Given the description of an element on the screen output the (x, y) to click on. 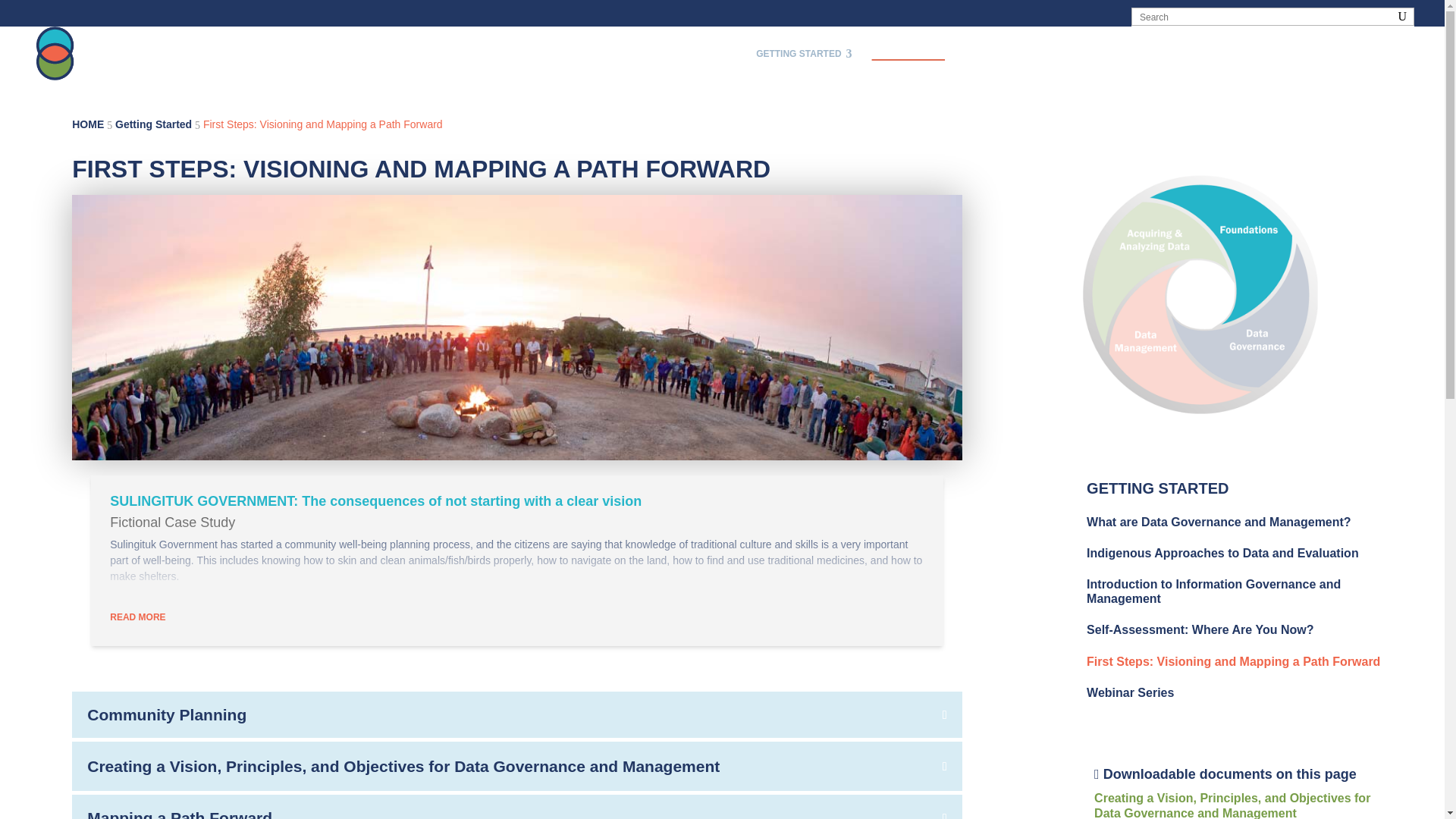
Icon - Foundation (1109, 54)
ABOUT THIS TOOLKIT (1179, 294)
APPLIED TOOLS (682, 53)
GETTING STARTED (1013, 54)
